Given the description of an element on the screen output the (x, y) to click on. 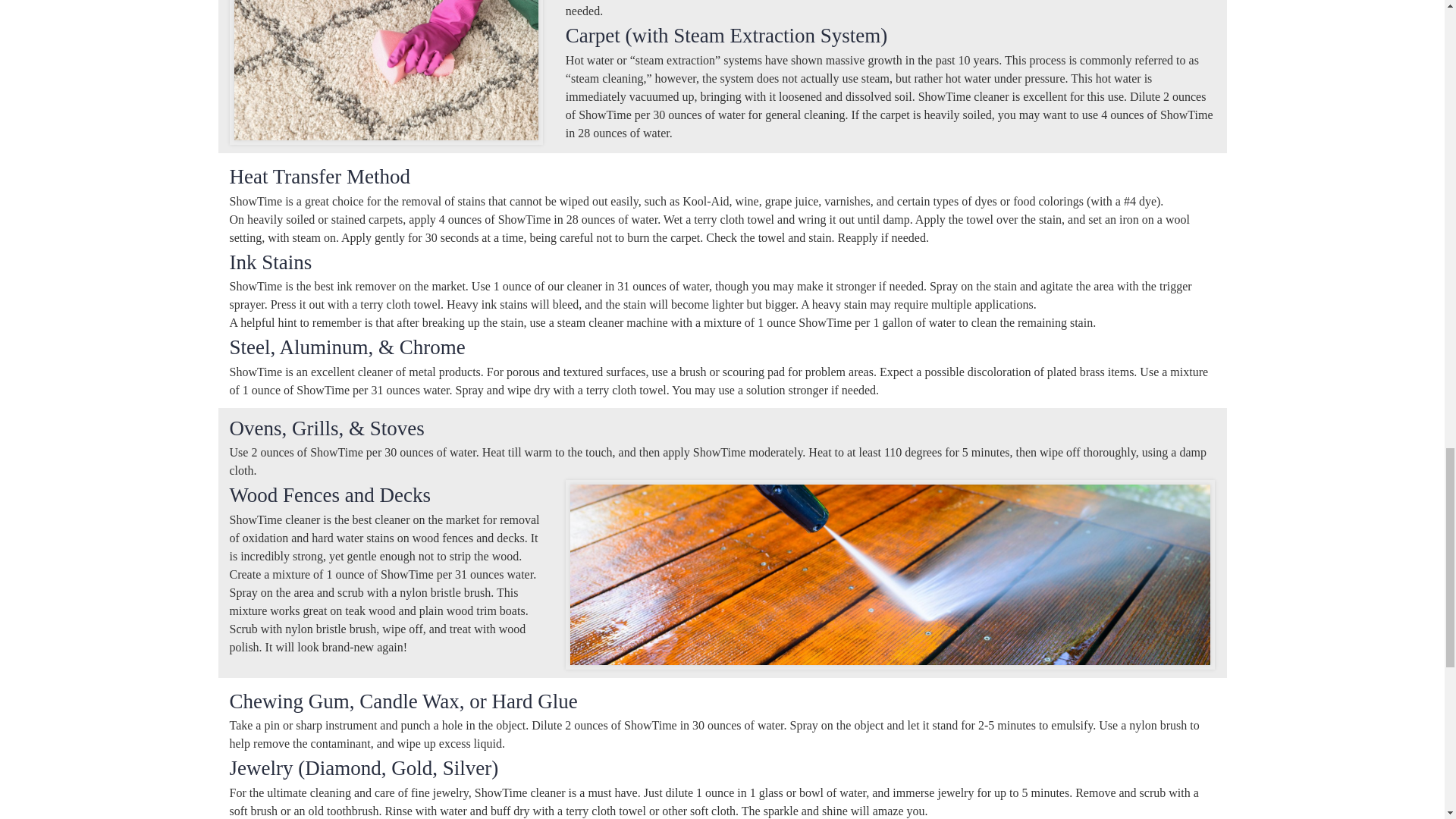
clean-carpet (384, 70)
cleaning-deck (890, 574)
